Given the description of an element on the screen output the (x, y) to click on. 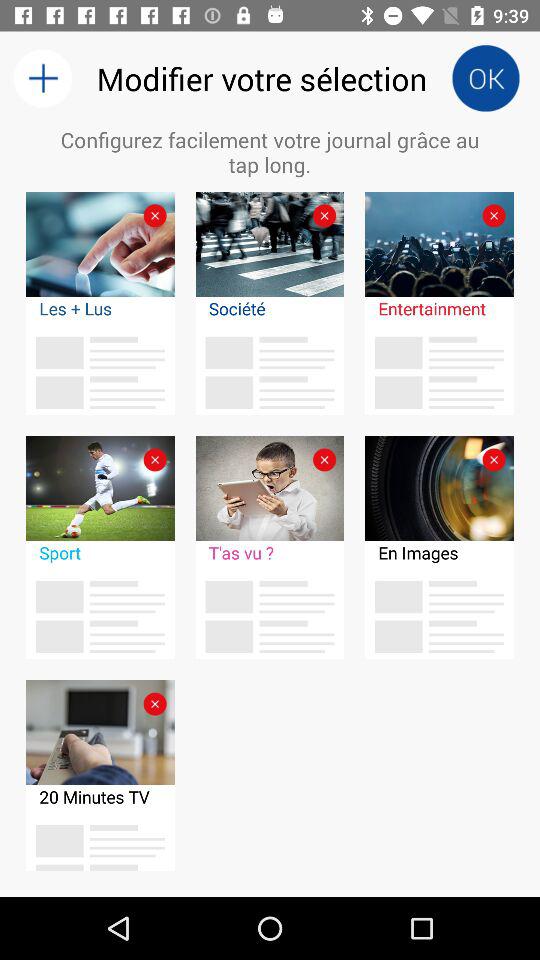
open the item above configurez facilement votre icon (42, 78)
